Given the description of an element on the screen output the (x, y) to click on. 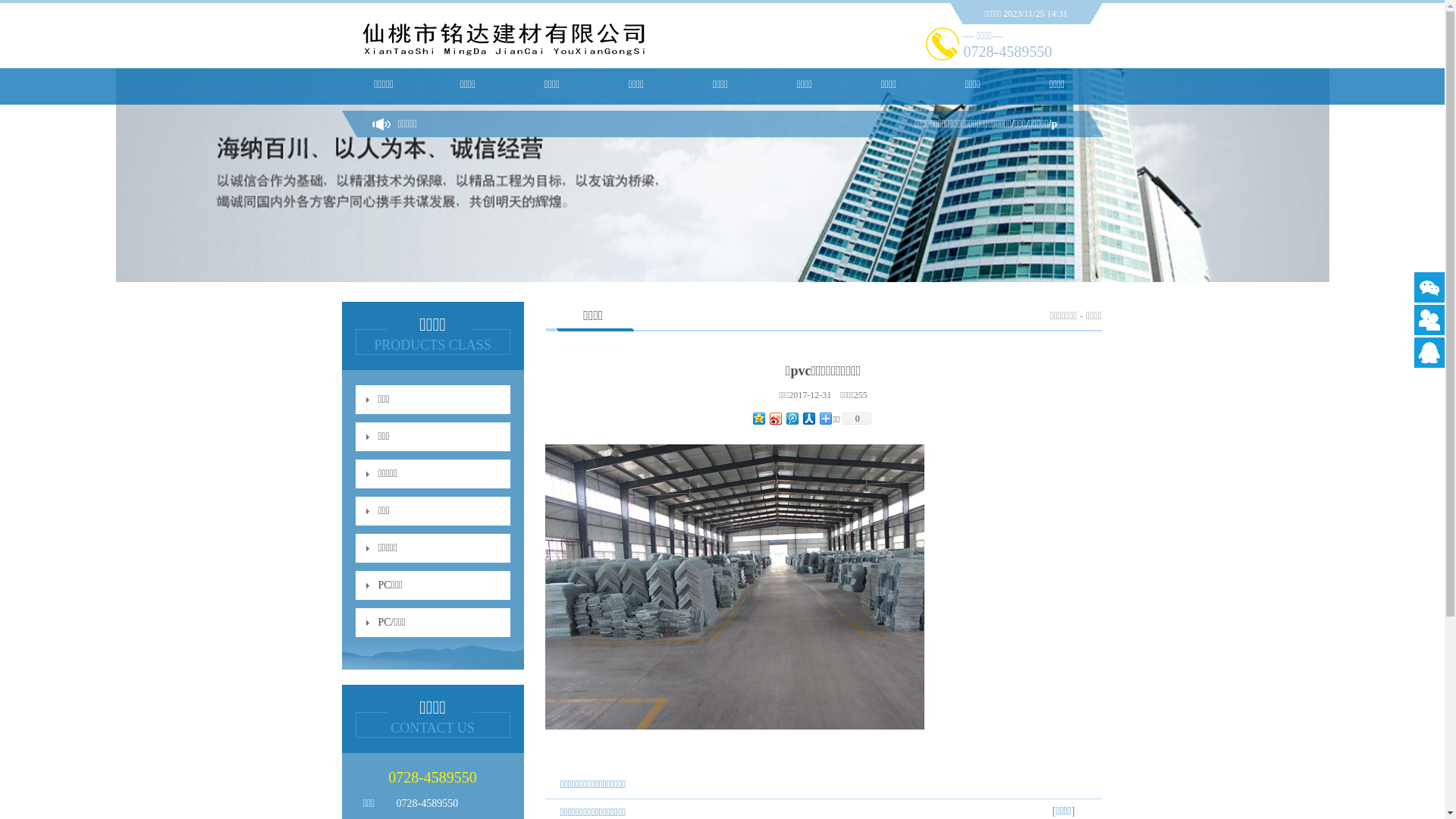
0 Element type: text (855, 418)
